Given the description of an element on the screen output the (x, y) to click on. 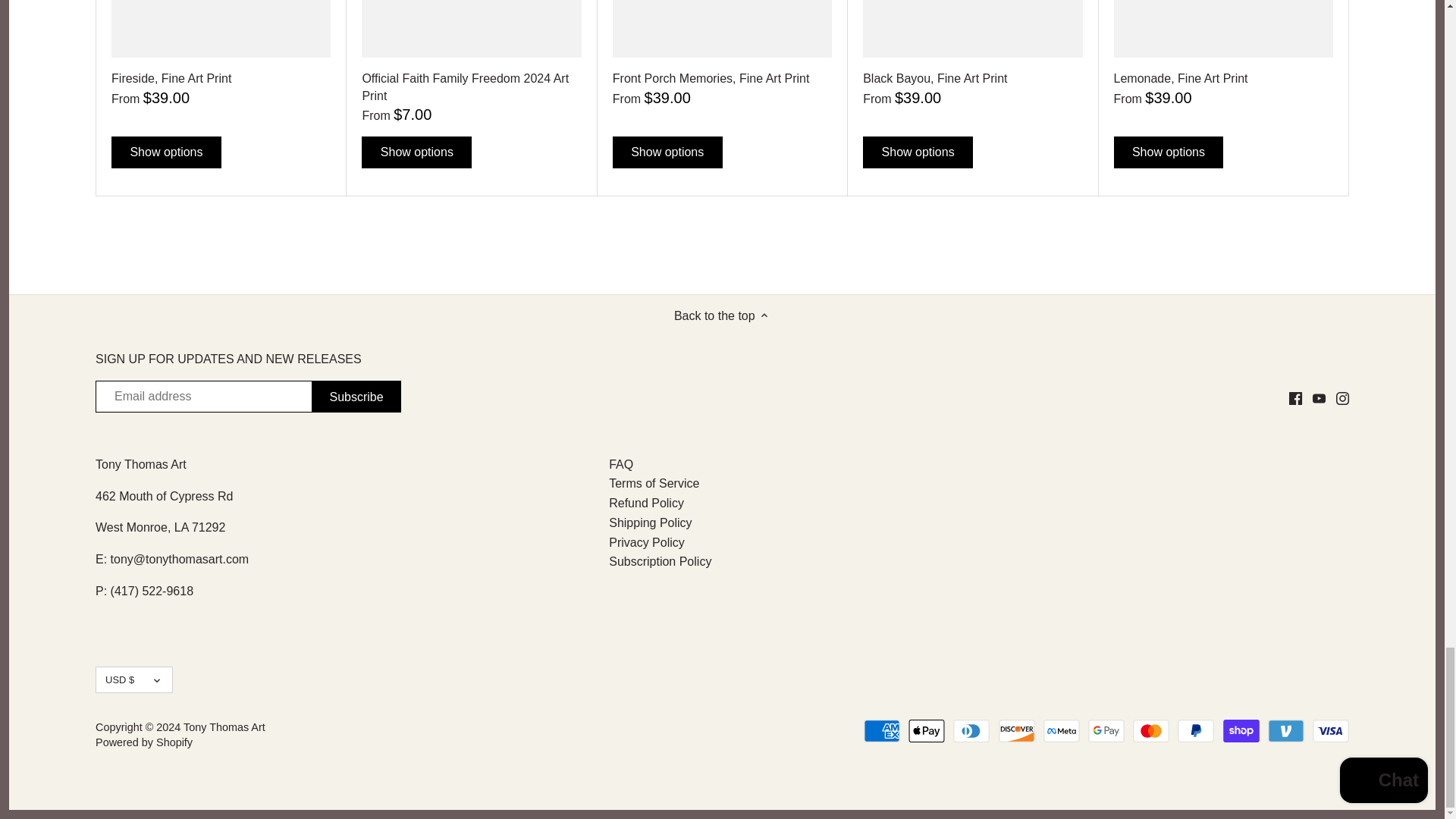
Subscribe (356, 396)
Facebook (1294, 398)
Instagram (1342, 398)
Youtube (1318, 398)
